Given the description of an element on the screen output the (x, y) to click on. 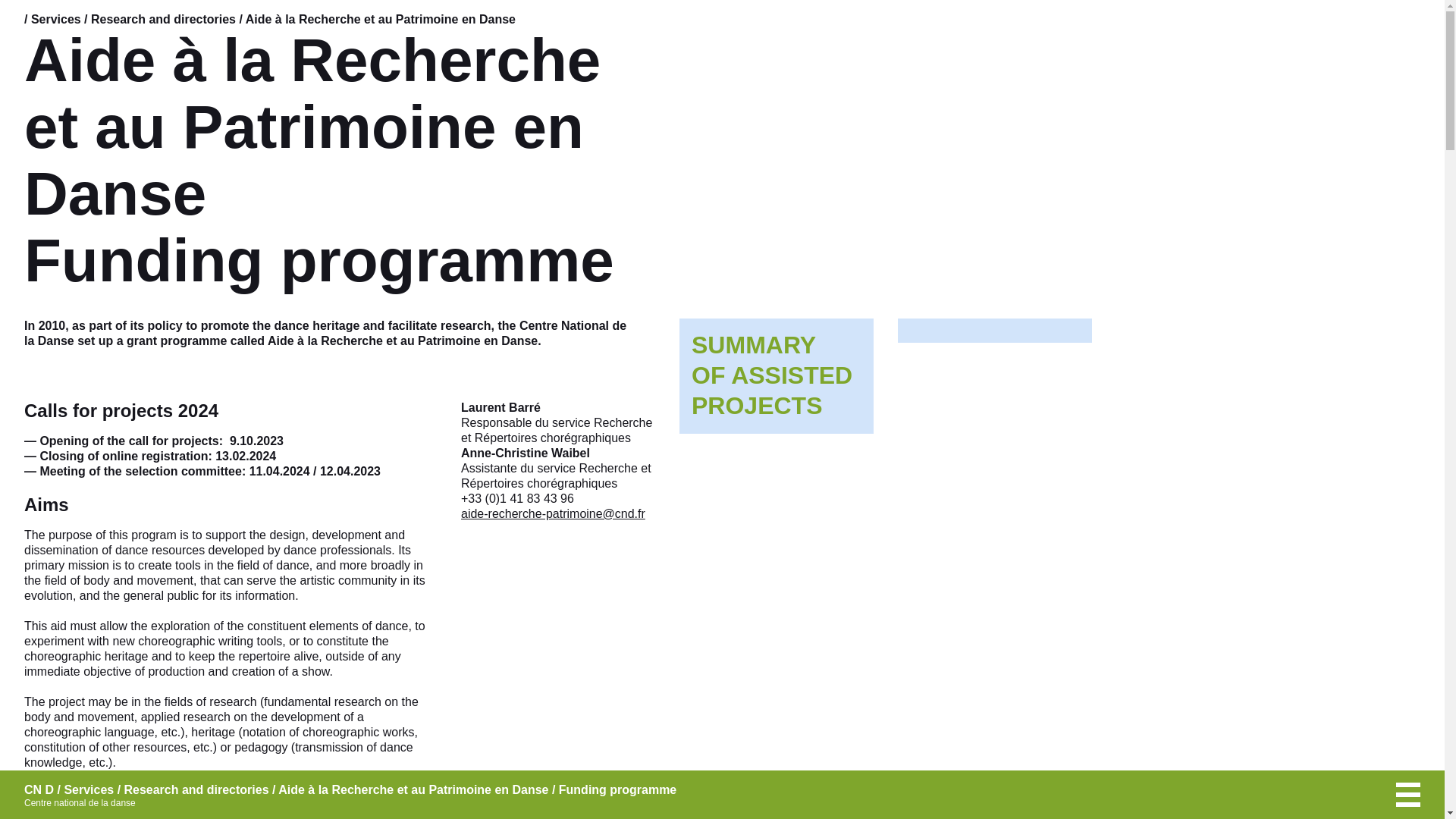
Funding programme (618, 789)
Services (88, 789)
Menu (1408, 794)
Services (55, 19)
Research and directories (162, 19)
CN D (38, 789)
Research and directories (776, 376)
